Given the description of an element on the screen output the (x, y) to click on. 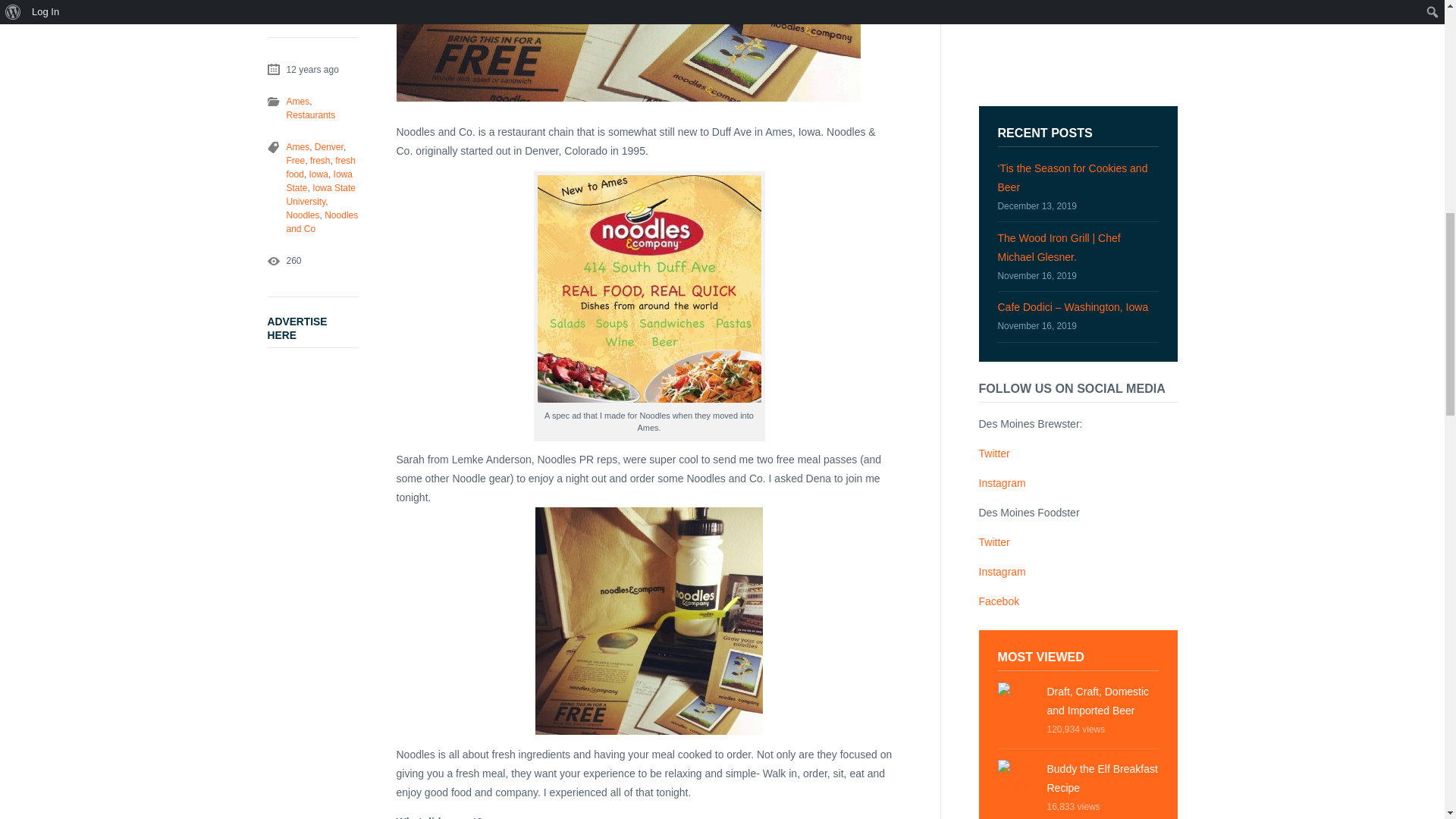
Noodles and Co (322, 221)
fresh (320, 160)
fresh food (320, 167)
Iowa (318, 173)
Iowa State (319, 180)
Restaurants (311, 114)
Ames (287, 146)
A spec ad that I made for Noodles when they moved into Ames. (649, 288)
Iowa State University (320, 194)
Noodles and Co. SWAG (648, 620)
